Given the description of an element on the screen output the (x, y) to click on. 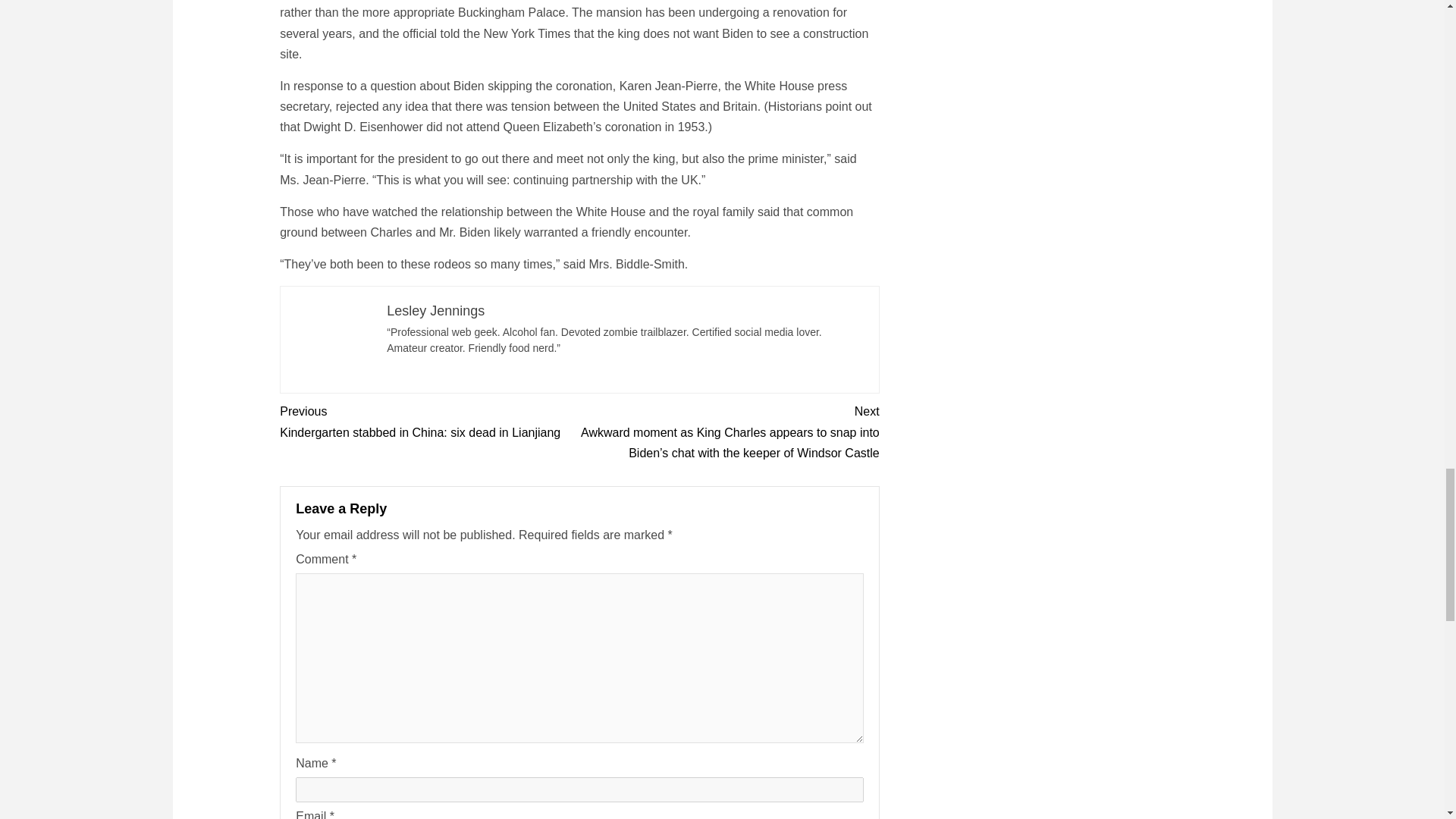
Lesley Jennings (435, 310)
